Given the description of an element on the screen output the (x, y) to click on. 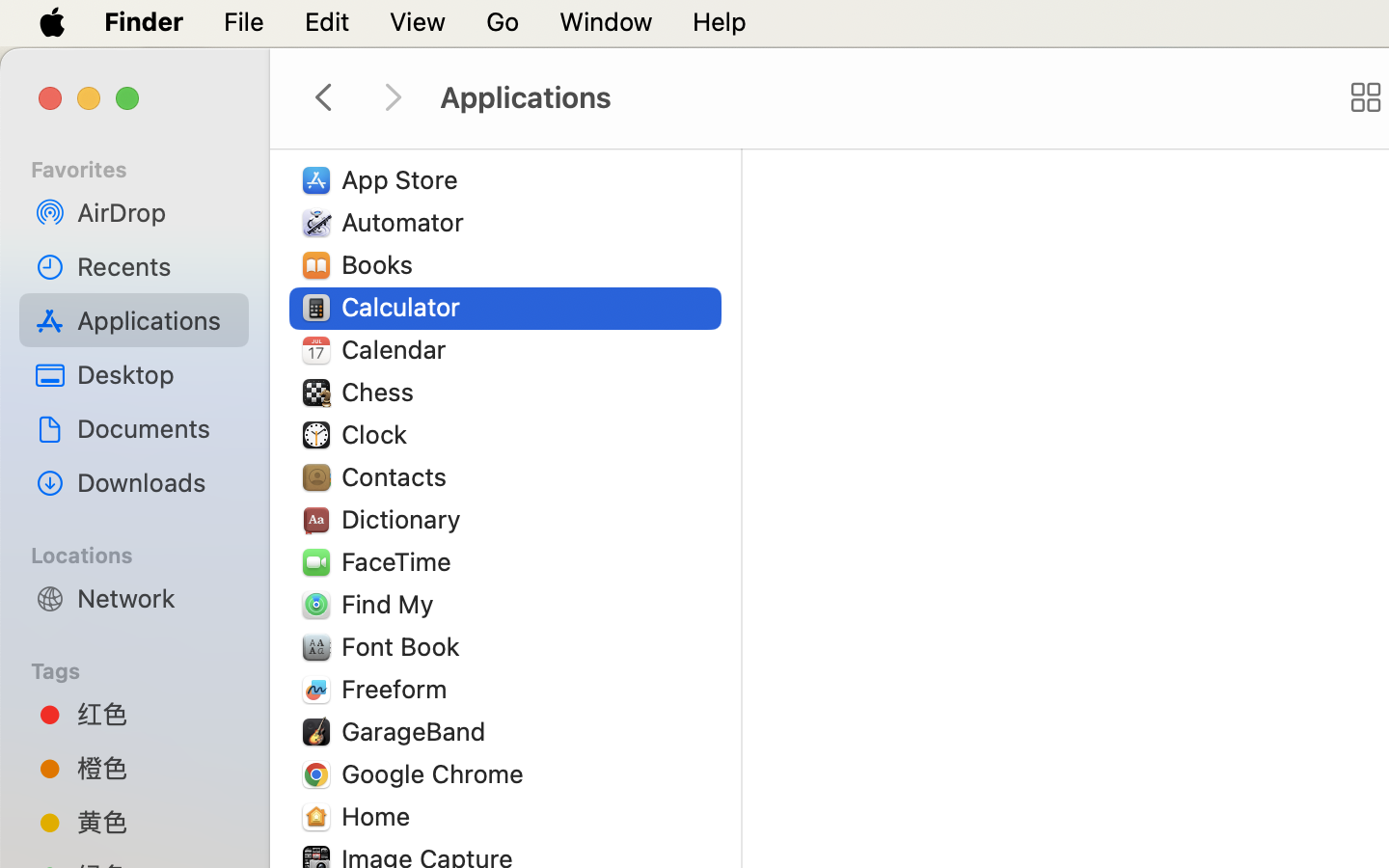
App Store Element type: AXTextField (403, 178)
Find My Element type: AXTextField (391, 603)
FaceTime Element type: AXTextField (400, 560)
Freeform Element type: AXTextField (398, 688)
Home Element type: AXTextField (379, 815)
